Given the description of an element on the screen output the (x, y) to click on. 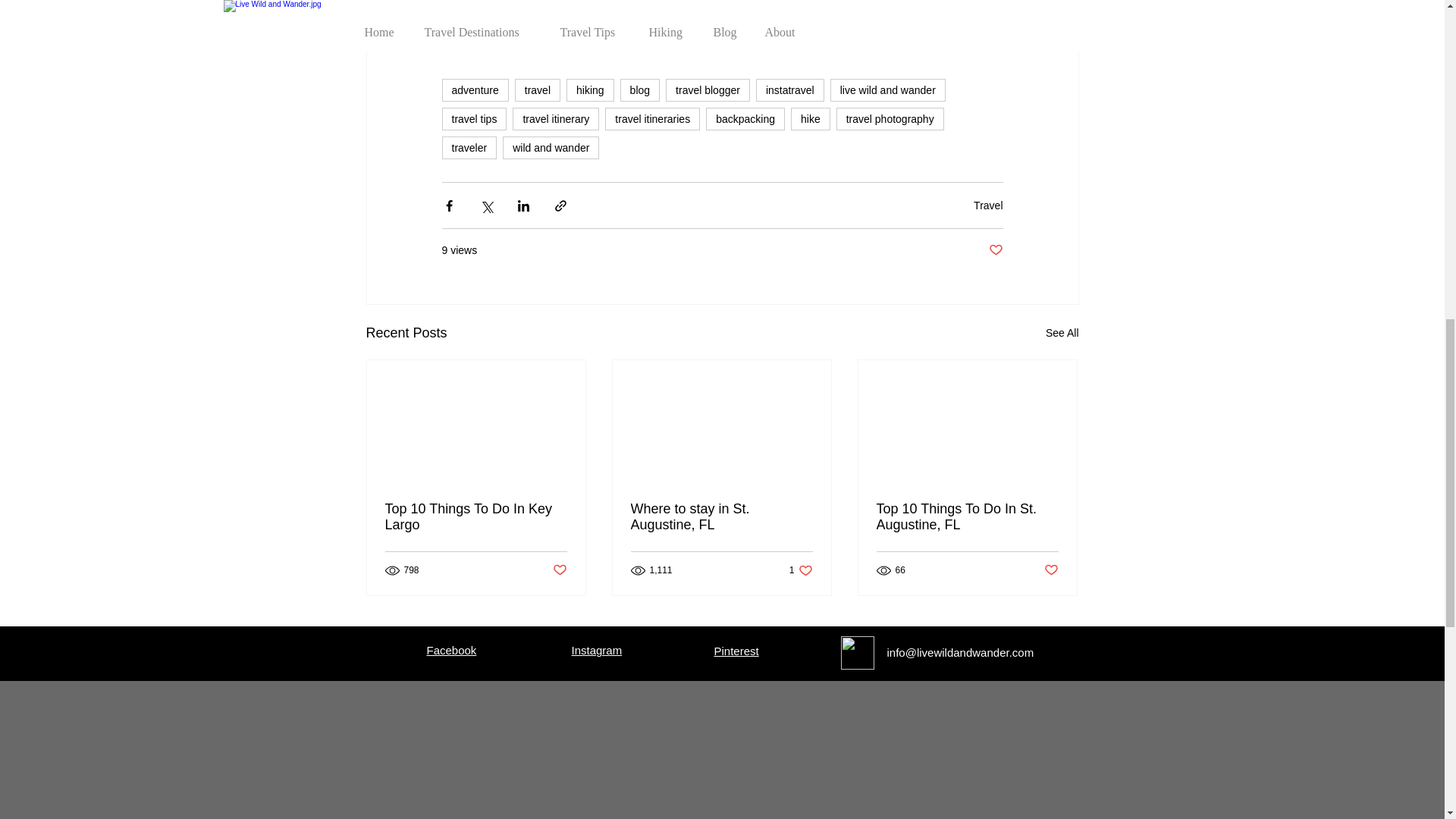
adventure (474, 89)
travel (537, 89)
backpacking (745, 118)
instatravel (789, 89)
travel itineraries (652, 118)
travel photography (889, 118)
travel itinerary (555, 118)
travel blogger (707, 89)
hiking (590, 89)
live wild and wander (886, 89)
travel tips (473, 118)
hike (809, 118)
blog (639, 89)
